Given the description of an element on the screen output the (x, y) to click on. 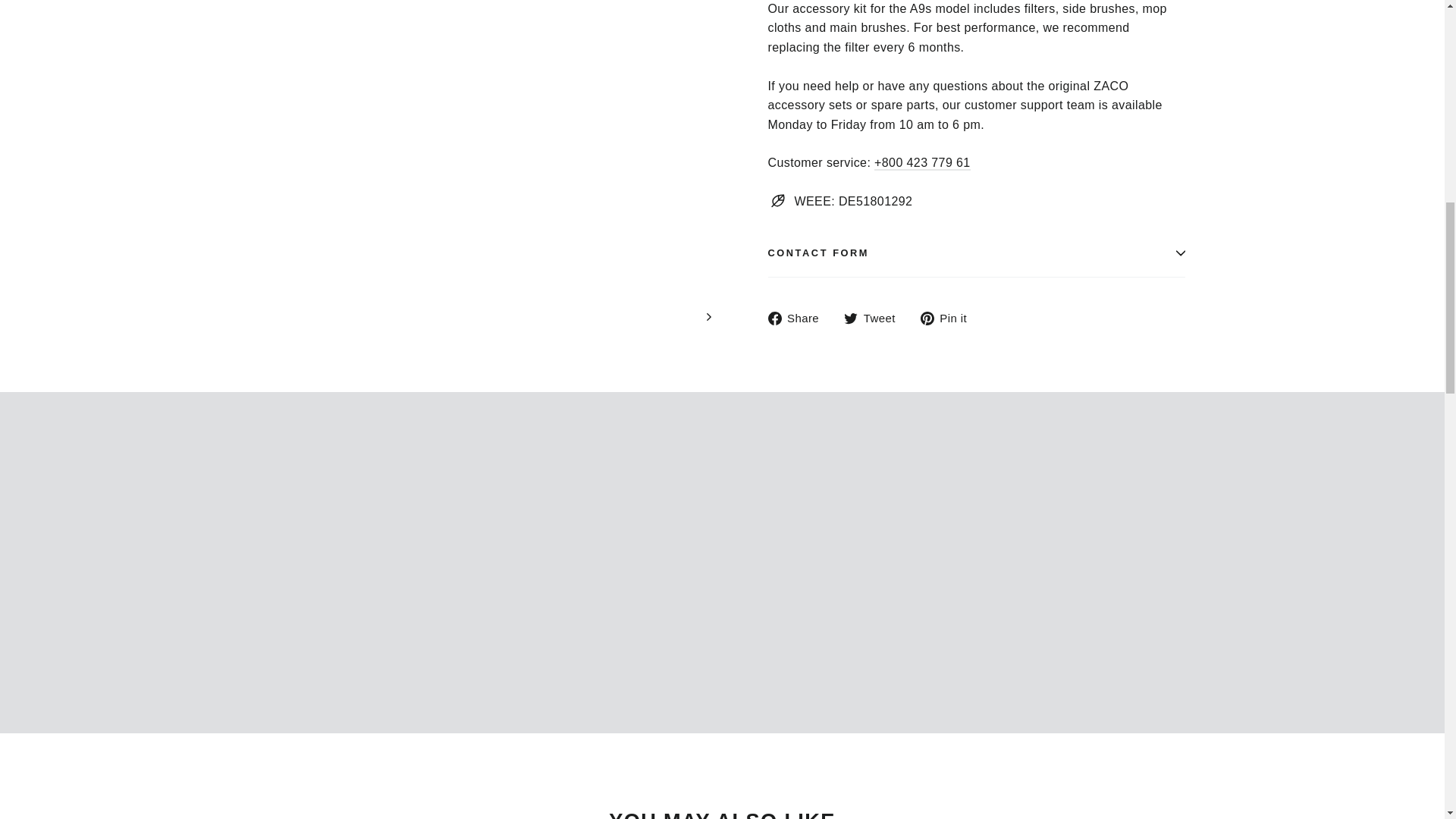
Pin on Pinterest (949, 317)
Share on Facebook (798, 317)
Tweet on Twitter (875, 317)
